Given the description of an element on the screen output the (x, y) to click on. 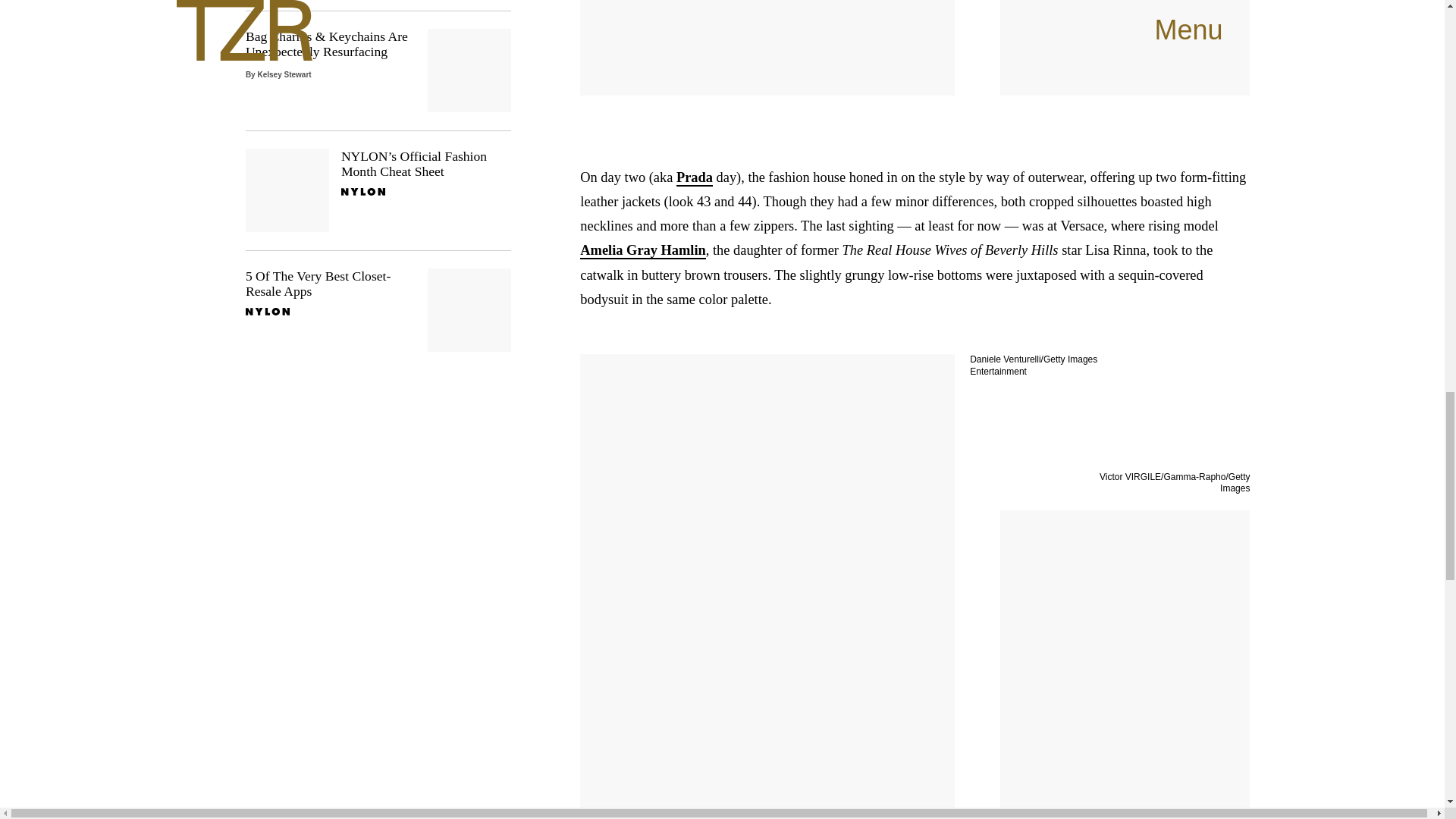
5 Of The Very Best Closet-Resale Apps (378, 310)
Prada (695, 177)
Amelia Gray Hamlin (642, 250)
